Given the description of an element on the screen output the (x, y) to click on. 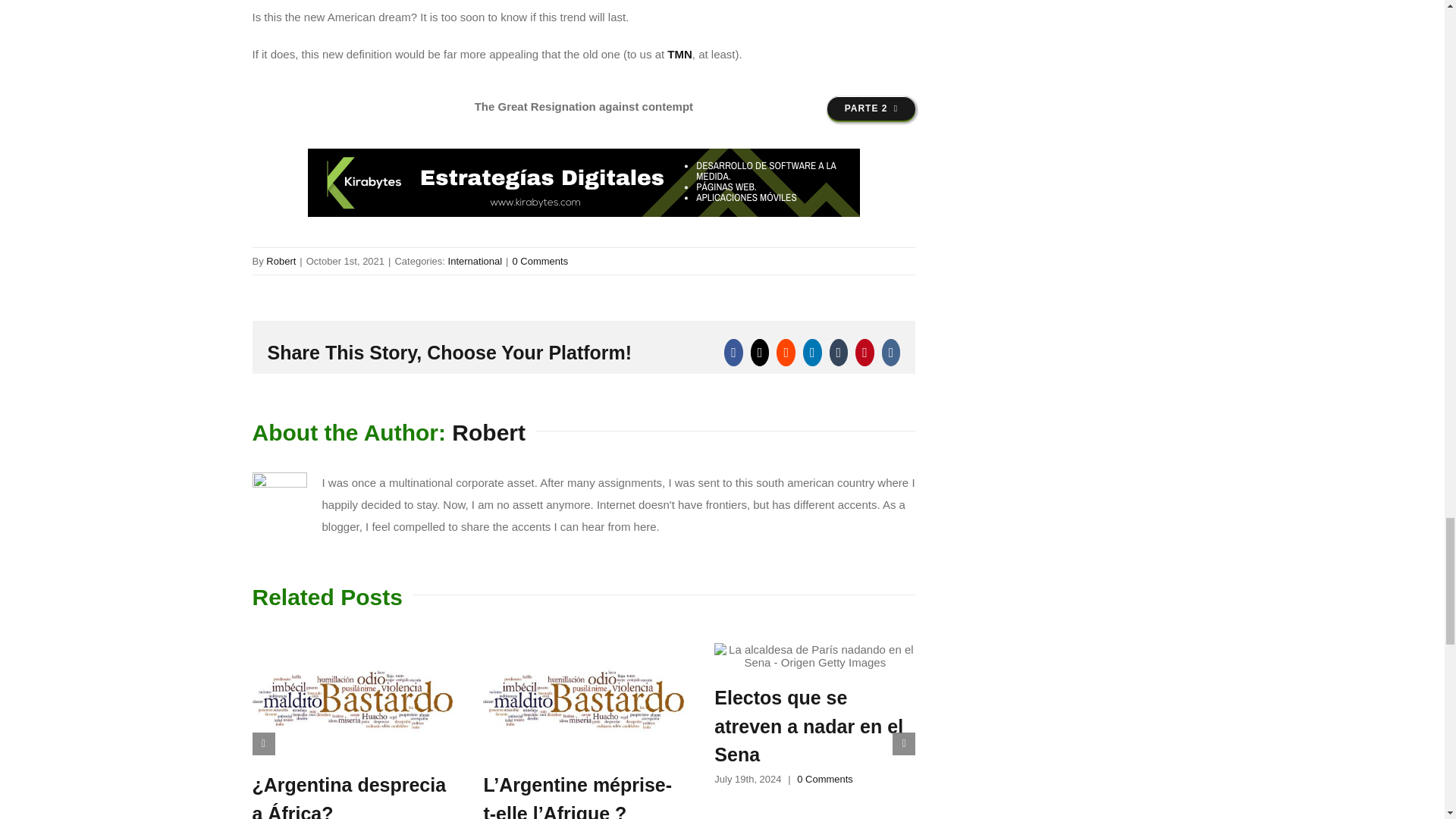
International (475, 260)
PARTE 2 (583, 122)
0 Comments (871, 108)
Posts by Robert (540, 260)
Posts by Robert (488, 432)
Robert (280, 260)
Electos que se atreven a nadar en el Sena (280, 260)
TMN (808, 725)
